Given the description of an element on the screen output the (x, y) to click on. 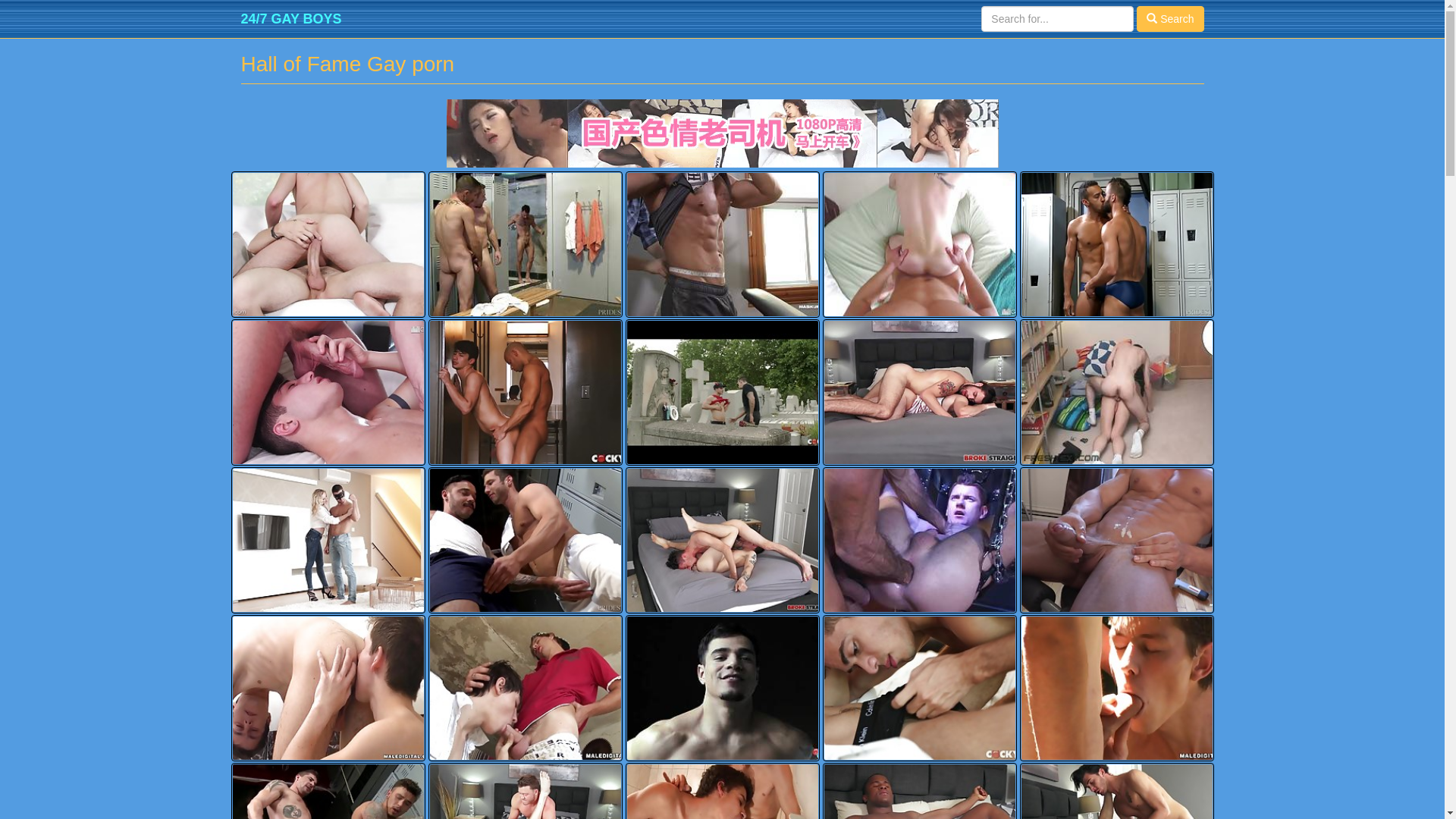
24/7 GAY BOYS Element type: text (290, 18)
Search Element type: text (1169, 18)
